Given the description of an element on the screen output the (x, y) to click on. 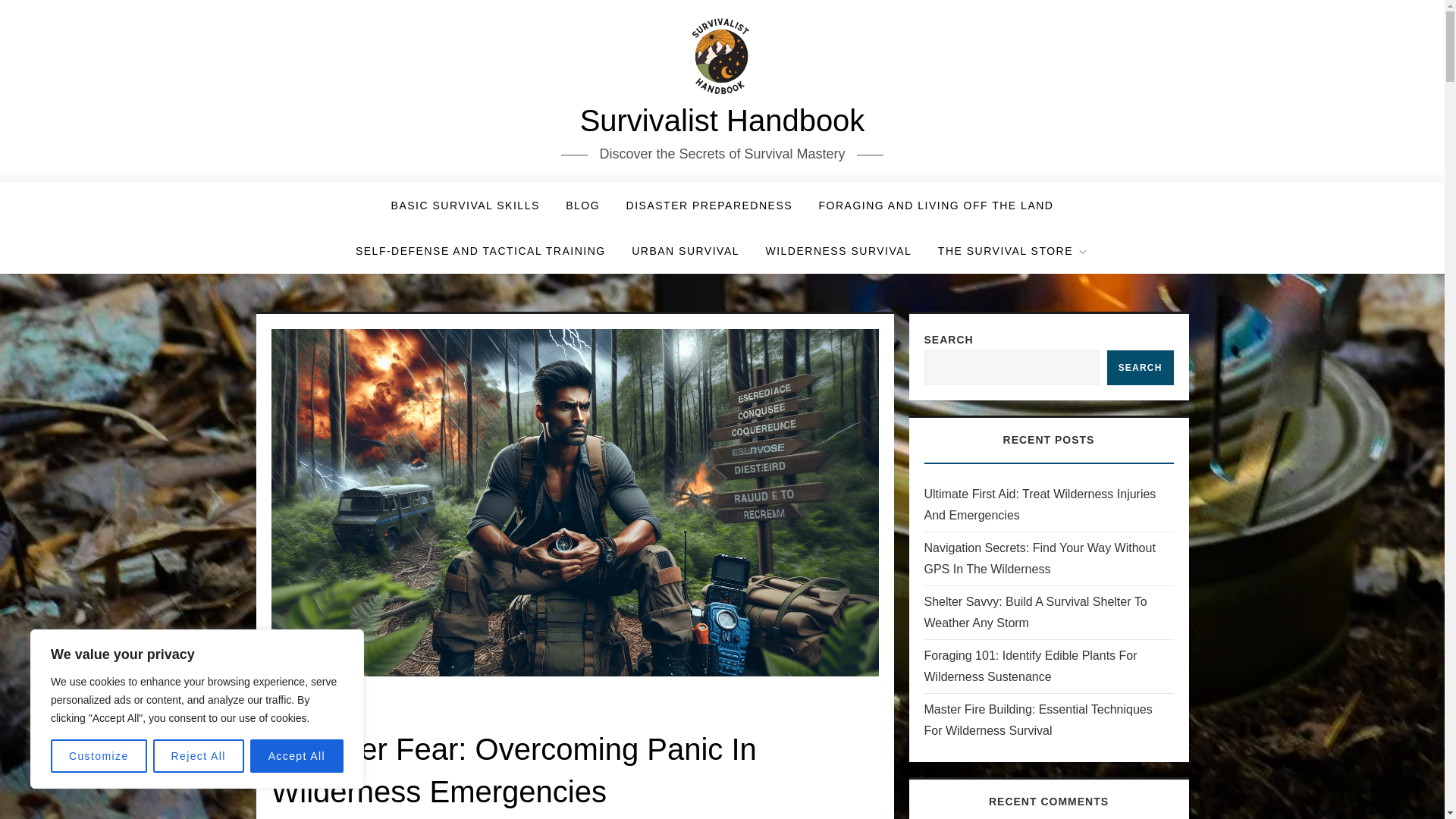
BASIC SURVIVAL SKILLS (465, 205)
URBAN SURVIVAL (685, 250)
Reject All (198, 756)
Customize (98, 756)
BLOG (582, 205)
SELF-DEFENSE AND TACTICAL TRAINING (480, 250)
FORAGING AND LIVING OFF THE LAND (936, 205)
THE SURVIVAL STORE (1013, 250)
WILDERNESS SURVIVAL (838, 250)
Survivalist Handbook (721, 120)
Accept All (296, 756)
DISASTER PREPAREDNESS (709, 205)
